Given the description of an element on the screen output the (x, y) to click on. 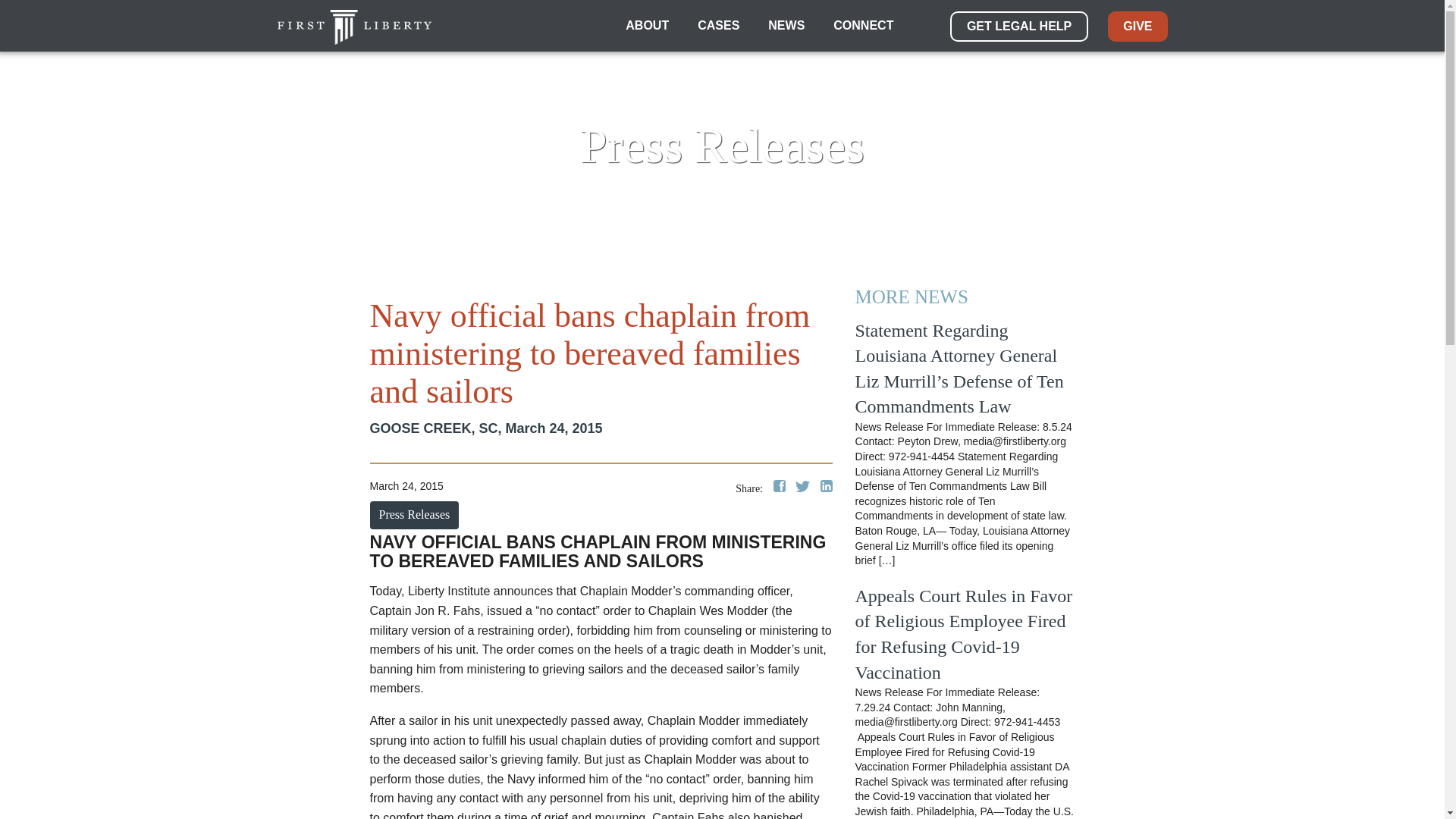
CASES (718, 25)
ABOUT (646, 25)
NEWS (785, 25)
GET LEGAL HELP (1018, 26)
GIVE (1137, 26)
CONNECT (863, 25)
